Given the description of an element on the screen output the (x, y) to click on. 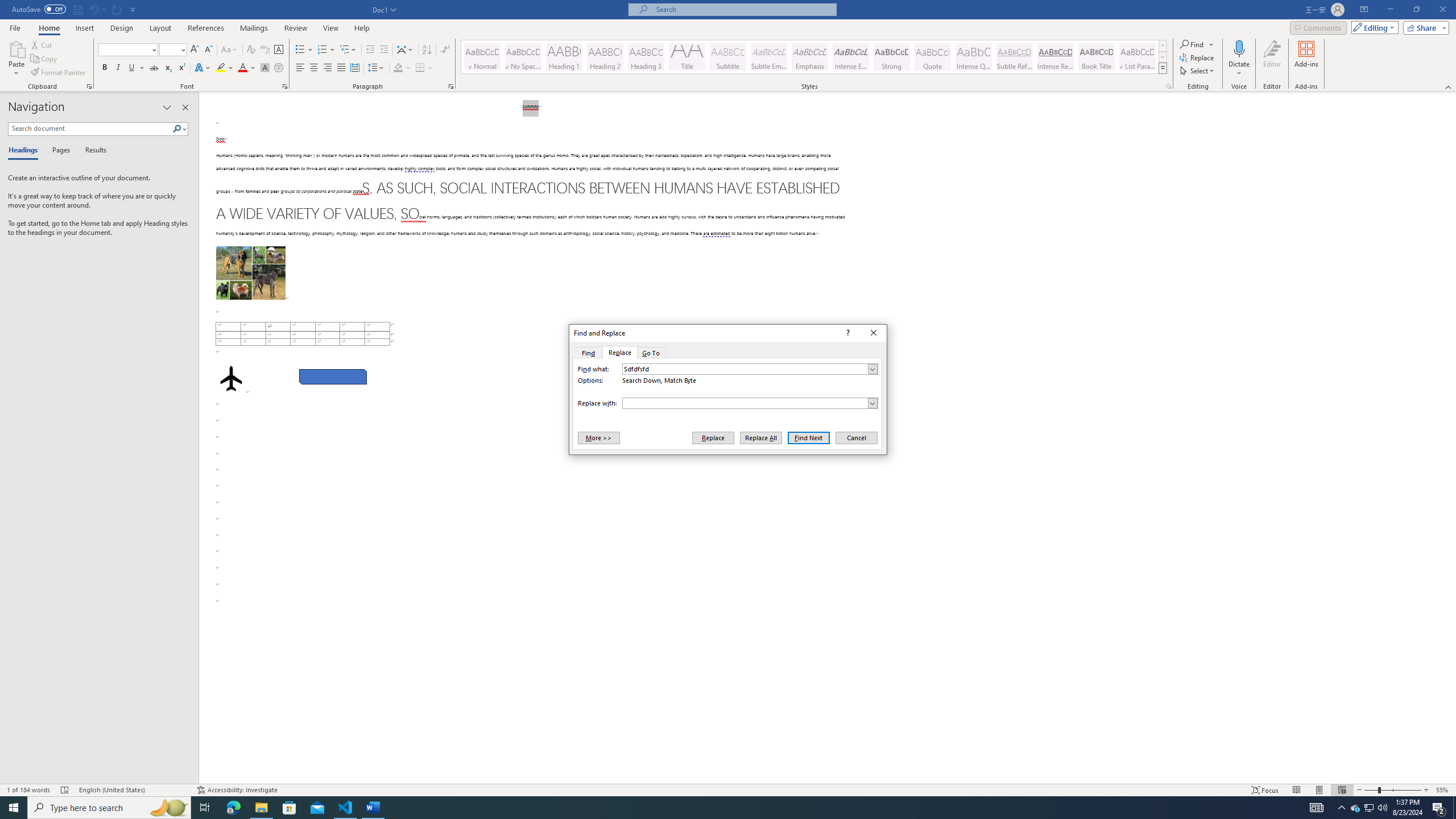
Row Down (1162, 56)
Context help (847, 333)
Show/Hide Editing Marks (444, 49)
Search document (89, 128)
Format Painter (58, 72)
Repeat Paragraph Alignment (117, 9)
Grow Font (193, 49)
Spelling and Grammar Check Errors (65, 790)
Go To (651, 352)
